Given the description of an element on the screen output the (x, y) to click on. 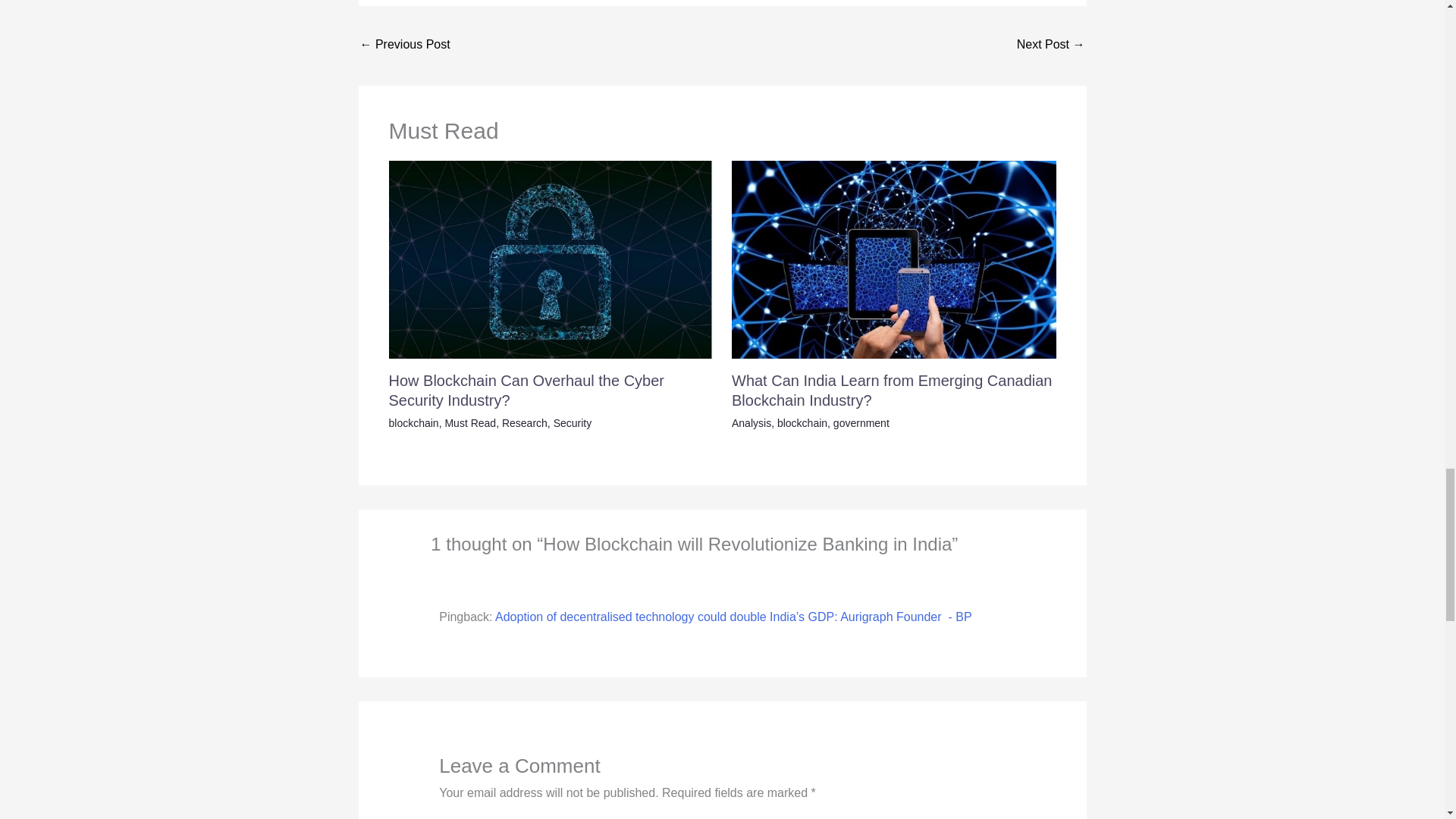
How Blockchain Can Overhaul the Cyber Security Industry? (525, 390)
Are Decentralised Exchanges the Future? (1050, 45)
Research (524, 422)
blockchain (802, 422)
government (860, 422)
blockchain (413, 422)
Analysis (751, 422)
Security (572, 422)
Must Read (470, 422)
